Given the description of an element on the screen output the (x, y) to click on. 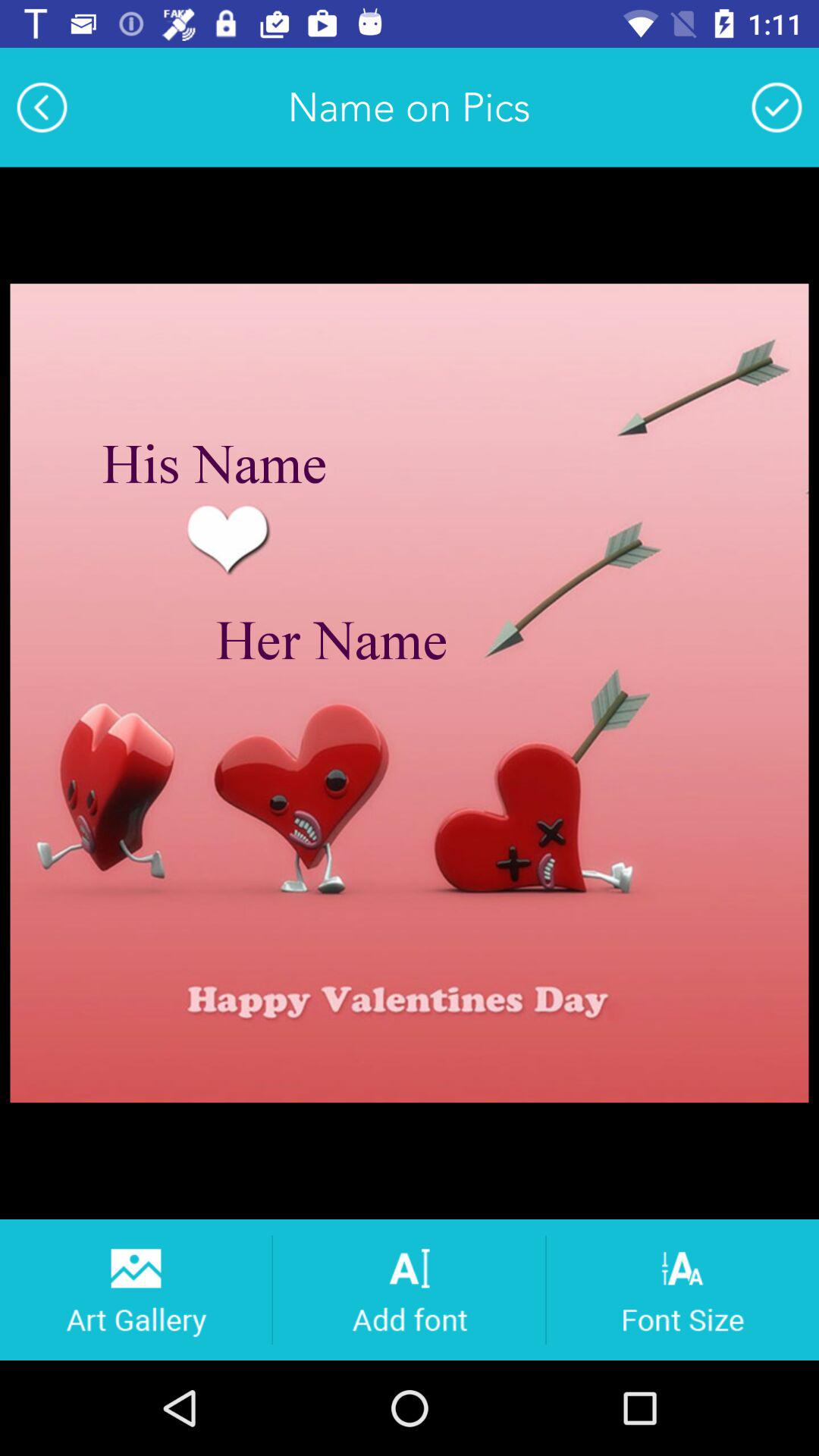
change font size (682, 1289)
